Given the description of an element on the screen output the (x, y) to click on. 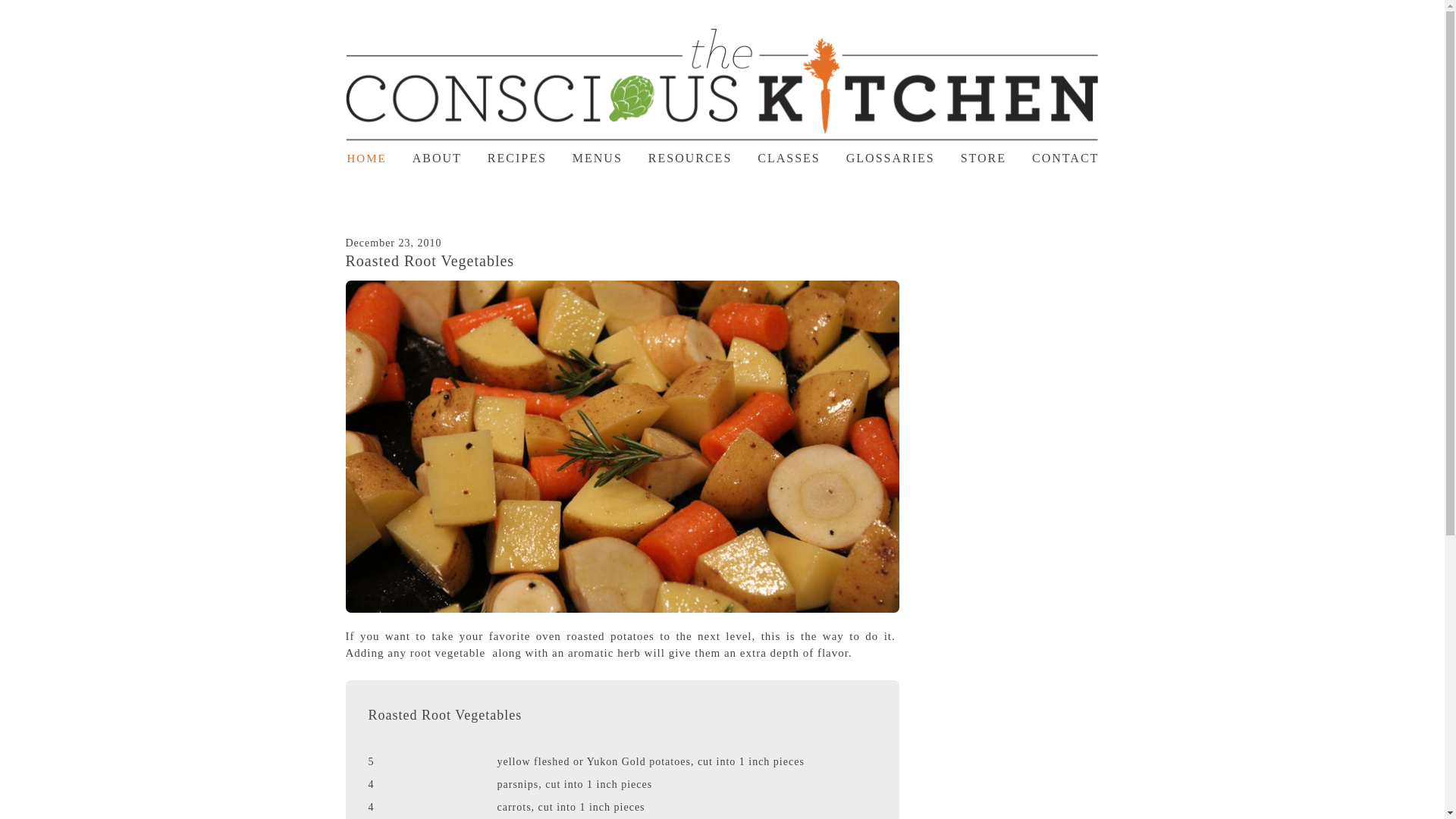
ABOUT (436, 153)
CLASSES (788, 153)
RESOURCES (689, 153)
RECIPES (517, 153)
HOME (367, 153)
MENUS (597, 153)
GLOSSARIES (889, 153)
STORE (983, 153)
CONTACT (1065, 153)
